Given the description of an element on the screen output the (x, y) to click on. 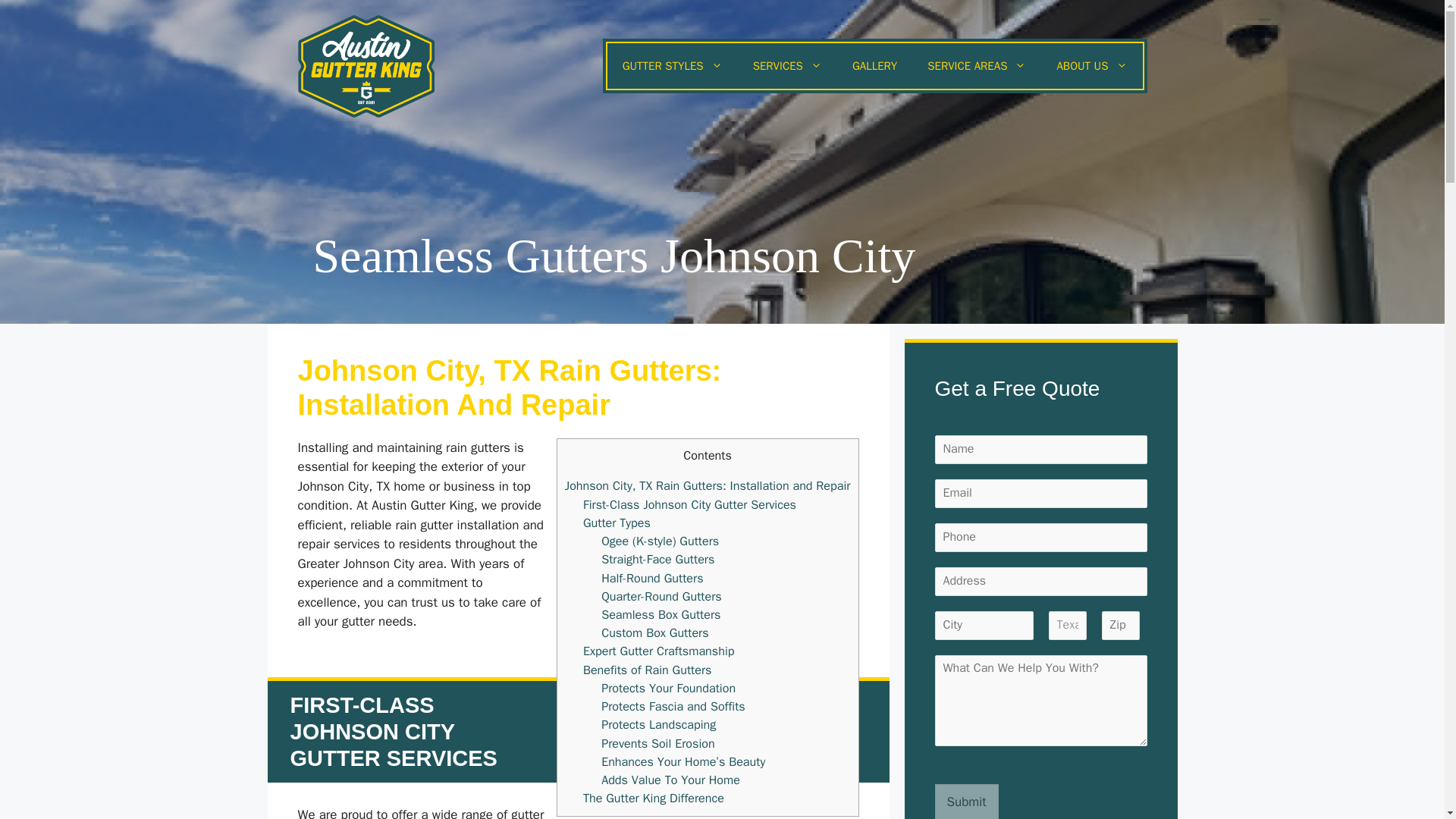
Gutter Types (616, 522)
Half-Round Gutters (652, 578)
GALLERY (874, 65)
First-Class Johnson City Gutter Services (689, 504)
Texas (1067, 624)
Straight-Face Gutters (657, 559)
GUTTER STYLES (672, 65)
Johnson City, TX Rain Gutters: Installation and Repair (707, 485)
ABOUT US (1091, 65)
SERVICE AREAS (976, 65)
SERVICES (787, 65)
